Given the description of an element on the screen output the (x, y) to click on. 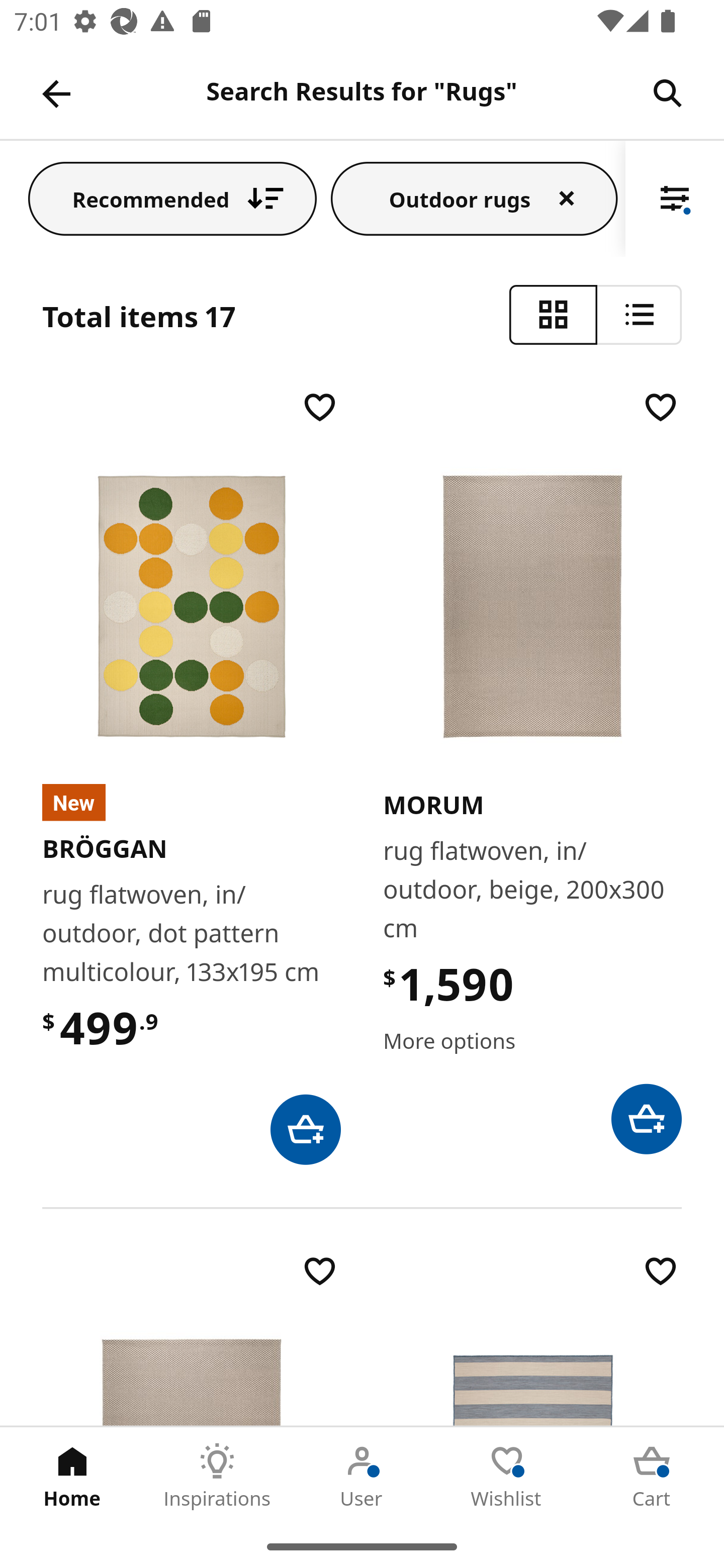
Recommended (172, 198)
Outdoor rugs (473, 198)
Home
Tab 1 of 5 (72, 1476)
Inspirations
Tab 2 of 5 (216, 1476)
User
Tab 3 of 5 (361, 1476)
Wishlist
Tab 4 of 5 (506, 1476)
Cart
Tab 5 of 5 (651, 1476)
